Given the description of an element on the screen output the (x, y) to click on. 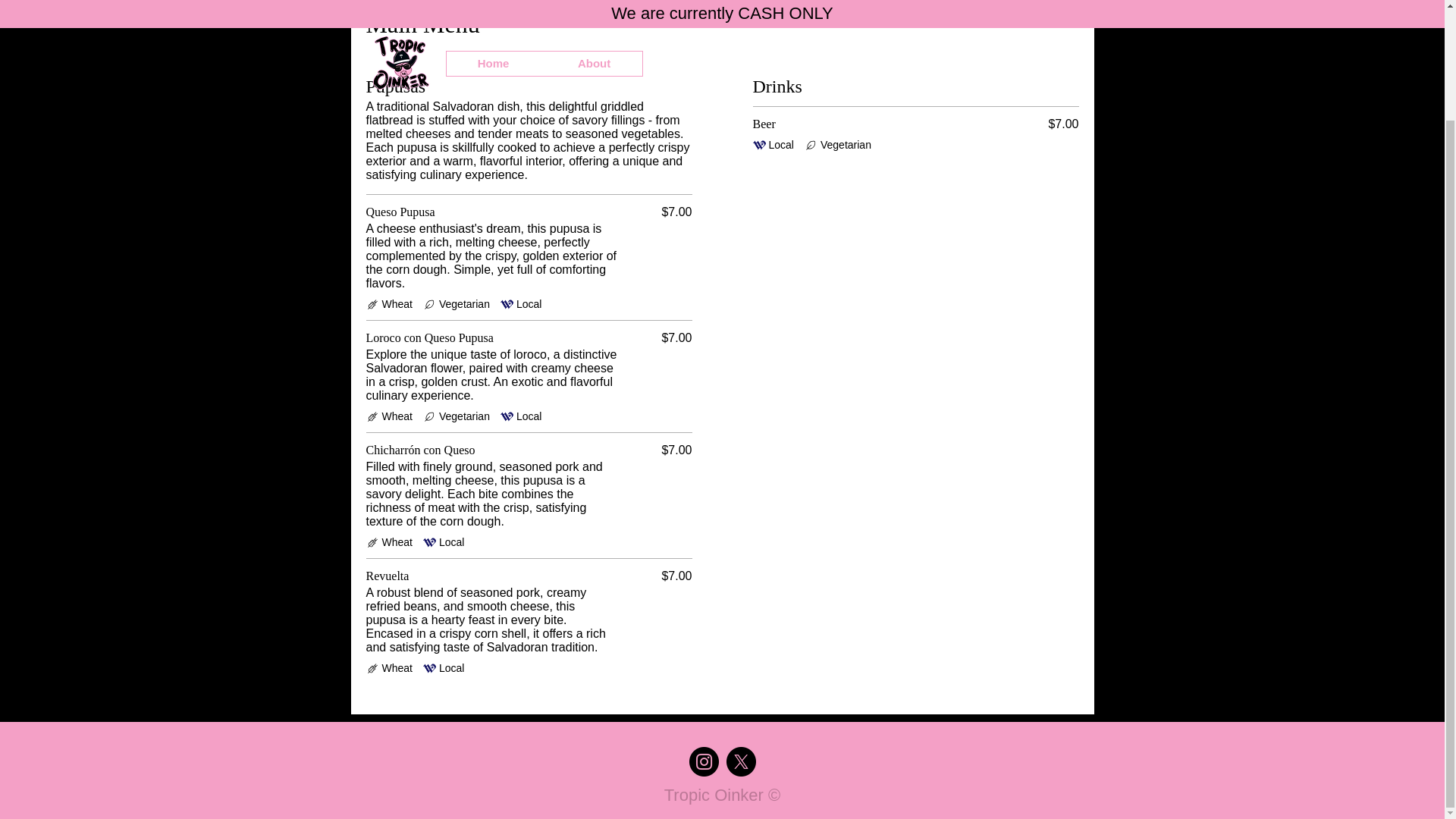
Check (758, 144)
Check (429, 542)
Check (429, 416)
Check (810, 144)
Check (506, 416)
Check (371, 416)
Check (371, 304)
Check (429, 667)
Check (371, 667)
Check (429, 304)
Check (371, 542)
Check (506, 304)
